Given the description of an element on the screen output the (x, y) to click on. 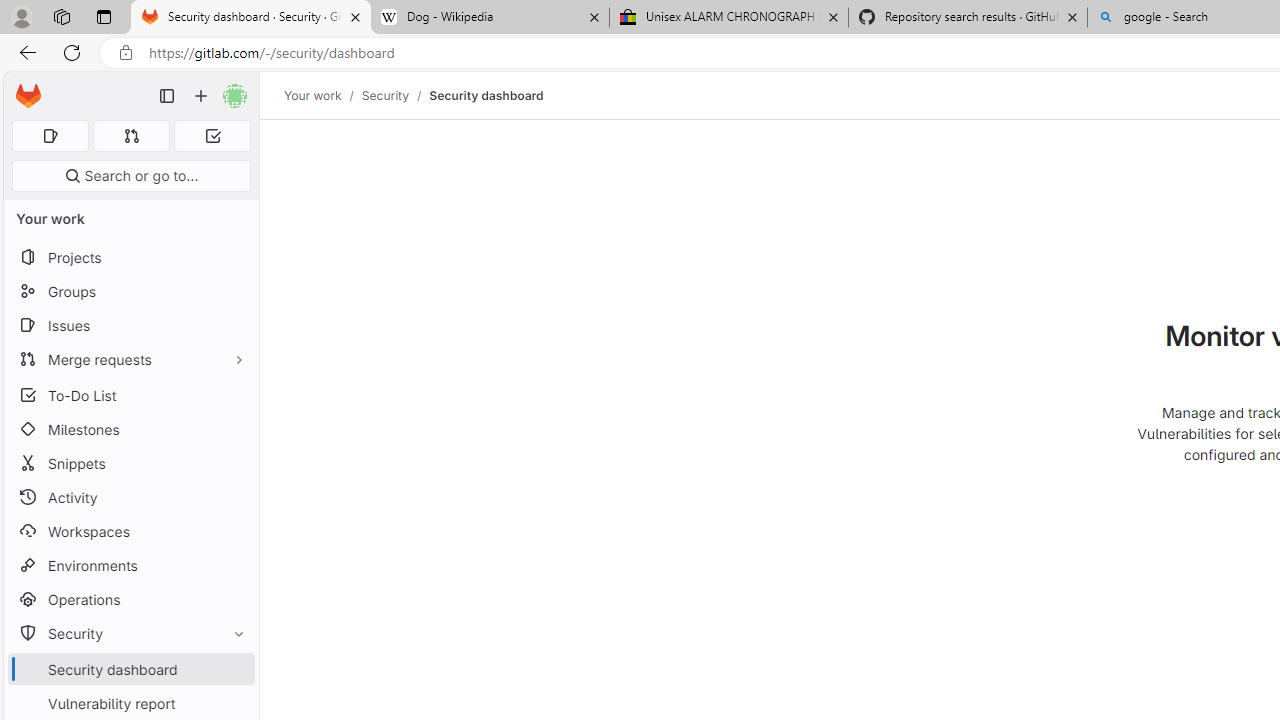
Operations (130, 599)
Your work/ (323, 95)
Groups (130, 291)
Security dashboard (486, 95)
Environments (130, 564)
Assigned issues 0 (50, 136)
Projects (130, 257)
Create new... (201, 96)
Merge requests (130, 358)
